Given the description of an element on the screen output the (x, y) to click on. 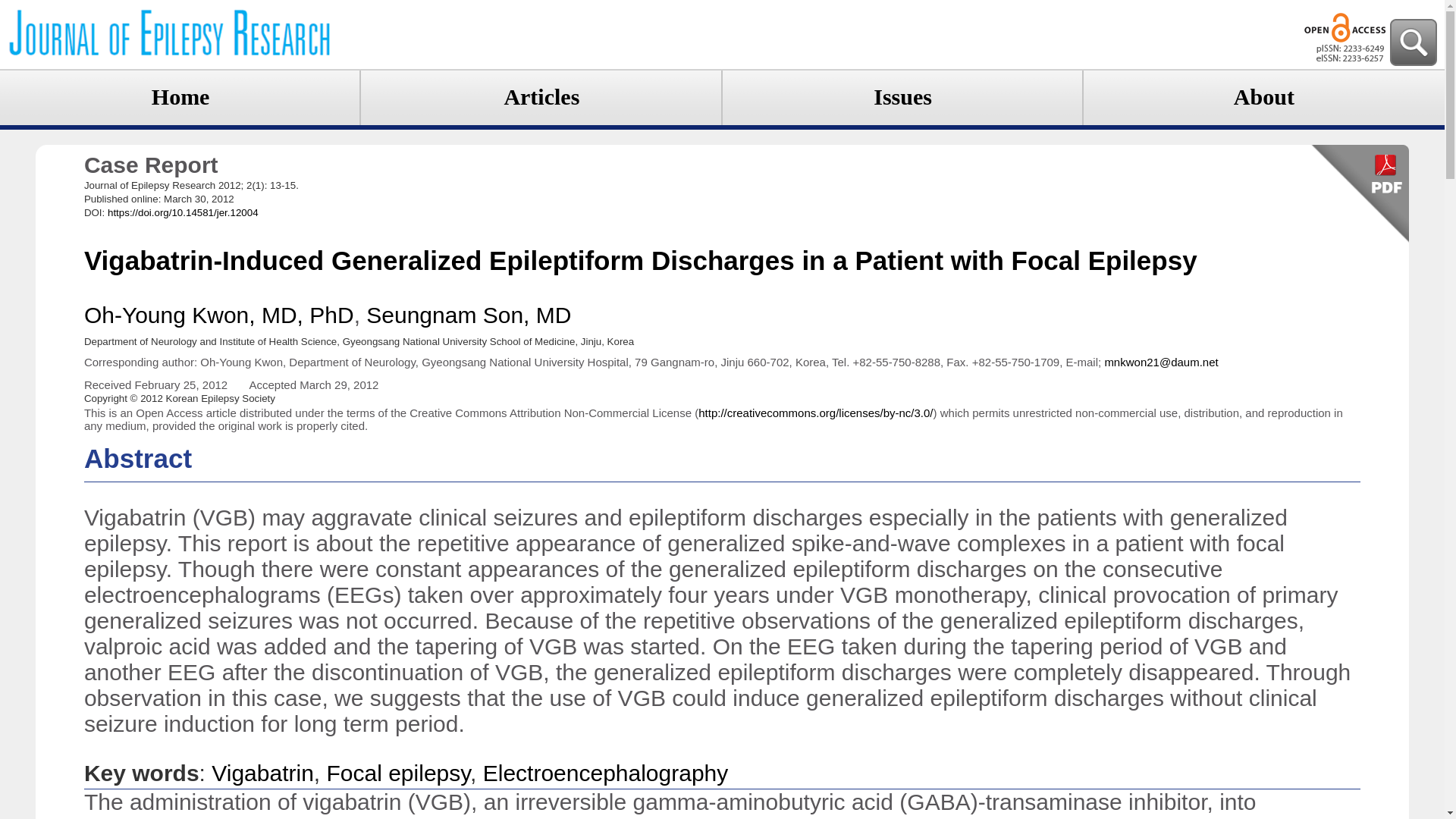
Focal epilepsy (398, 772)
Electroencephalography (606, 772)
About (1263, 96)
Seungnam Son, MD (468, 314)
Vigabatrin (262, 772)
1 (1205, 816)
Oh-Young Kwon, MD, PhD (218, 314)
Issues (902, 96)
Articles (541, 96)
Home (180, 96)
